Given the description of an element on the screen output the (x, y) to click on. 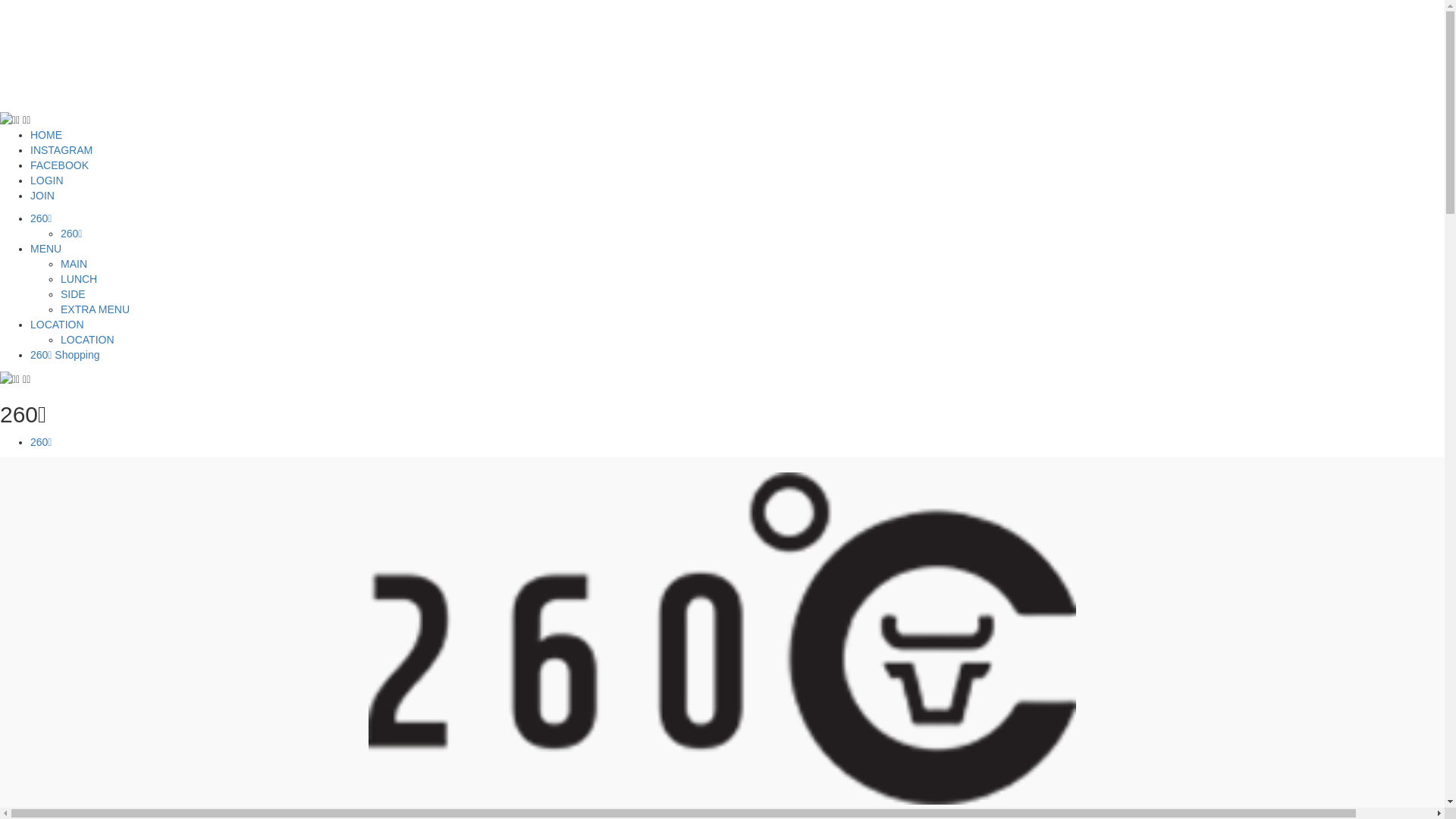
FACEBOOK Element type: text (59, 165)
INSTAGRAM Element type: text (61, 150)
SIDE Element type: text (72, 294)
LOCATION Element type: text (87, 339)
MENU Element type: text (45, 248)
HOME Element type: text (46, 134)
JOIN Element type: text (42, 195)
LUNCH Element type: text (78, 279)
MAIN Element type: text (73, 263)
LOGIN Element type: text (46, 180)
LOCATION Element type: text (57, 324)
EXTRA MENU Element type: text (94, 309)
